Given the description of an element on the screen output the (x, y) to click on. 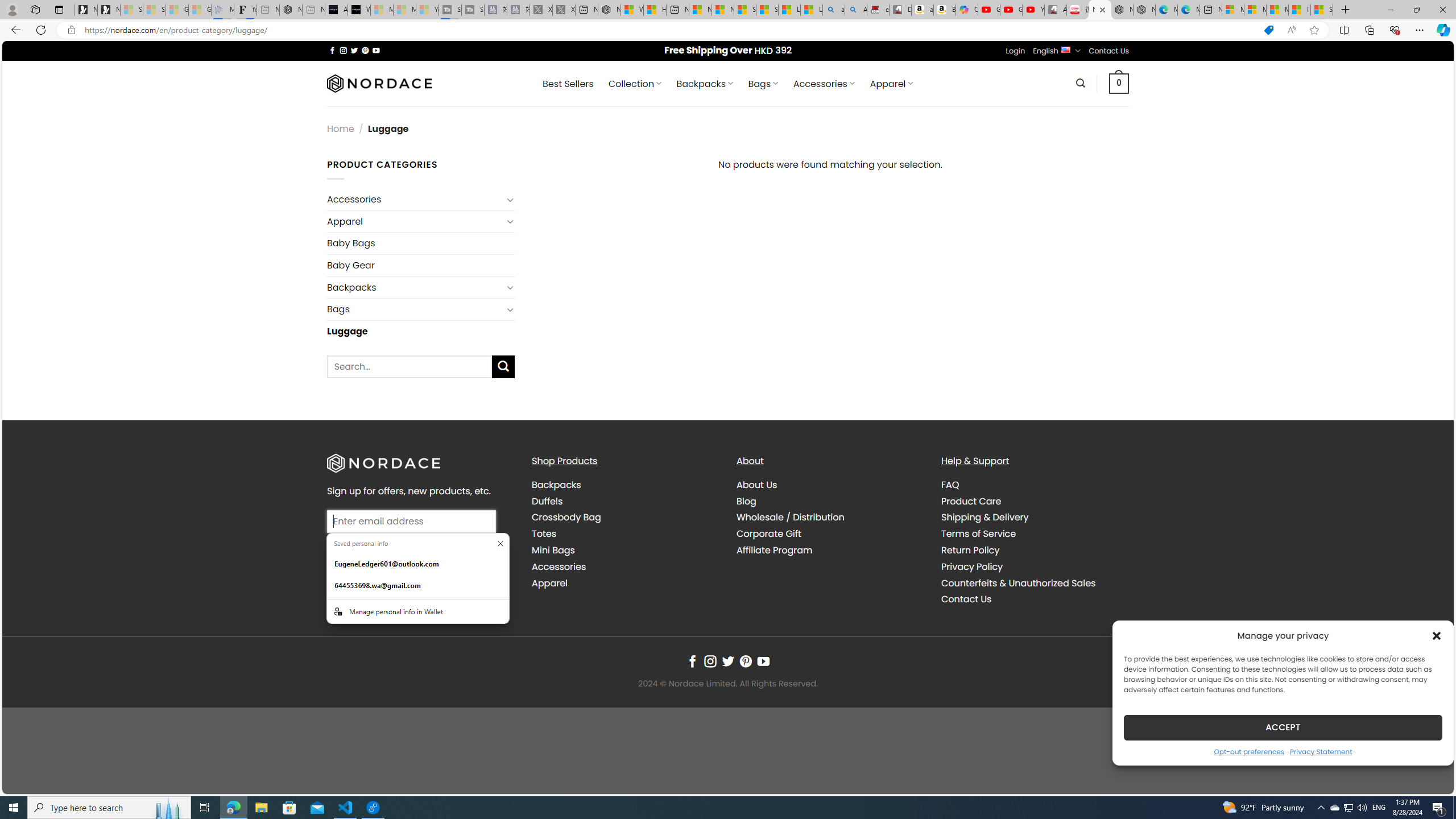
Corporate Gift (768, 533)
Blog (830, 501)
Backpacks (625, 484)
English (1065, 49)
Don't show saved information (500, 543)
Shipping & Delivery (1034, 517)
Apparel (625, 583)
Split screen (1344, 29)
Nordace - #1 Japanese Best-Seller - Siena Smart Backpack (291, 9)
Microsoft Start - Sleeping (404, 9)
Follow on Instagram (710, 661)
